Given the description of an element on the screen output the (x, y) to click on. 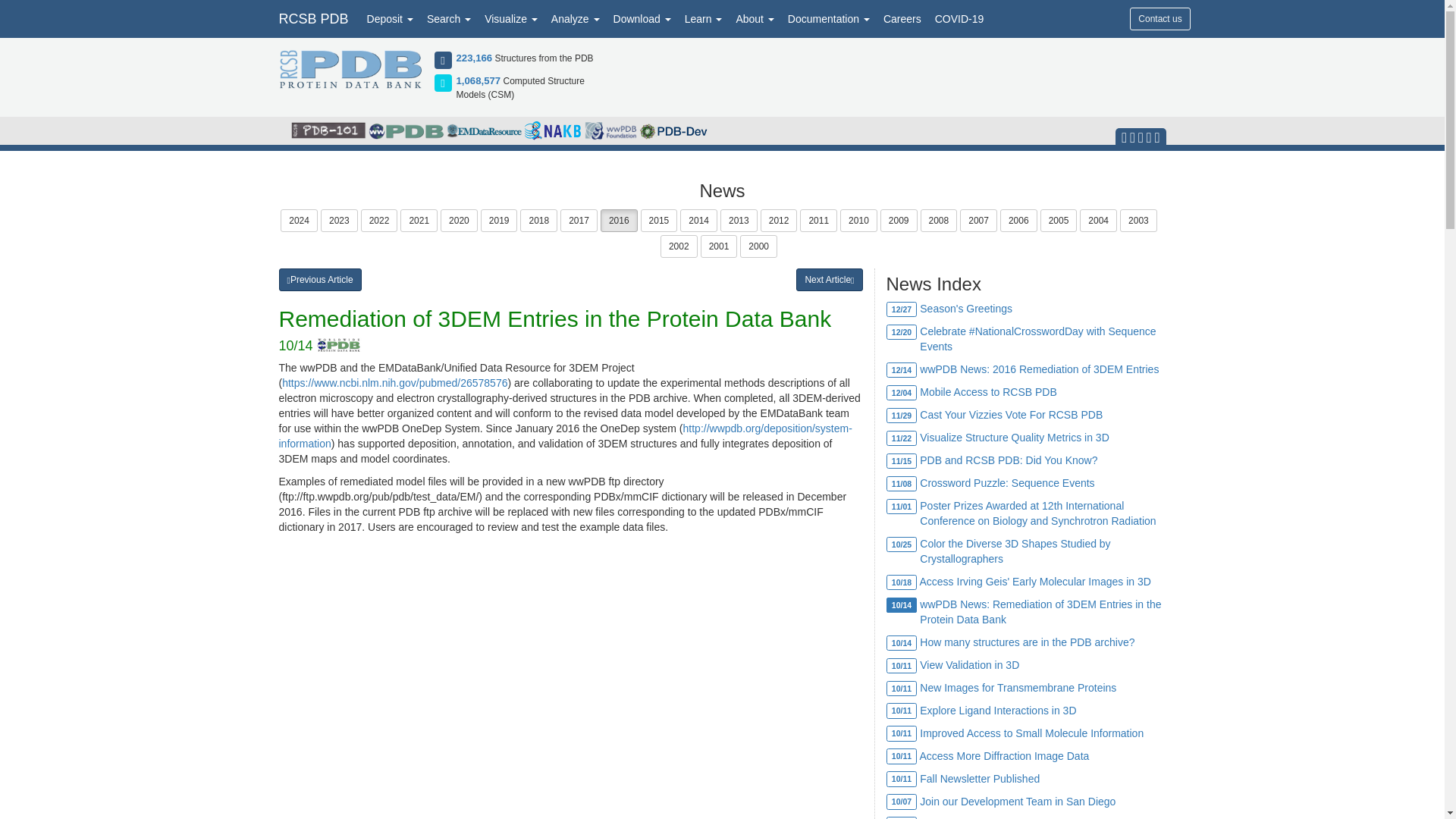
Search  (448, 18)
Analyze  (575, 18)
Deposit  (389, 18)
RCSB PDB (312, 18)
Visualize  (510, 18)
